Given the description of an element on the screen output the (x, y) to click on. 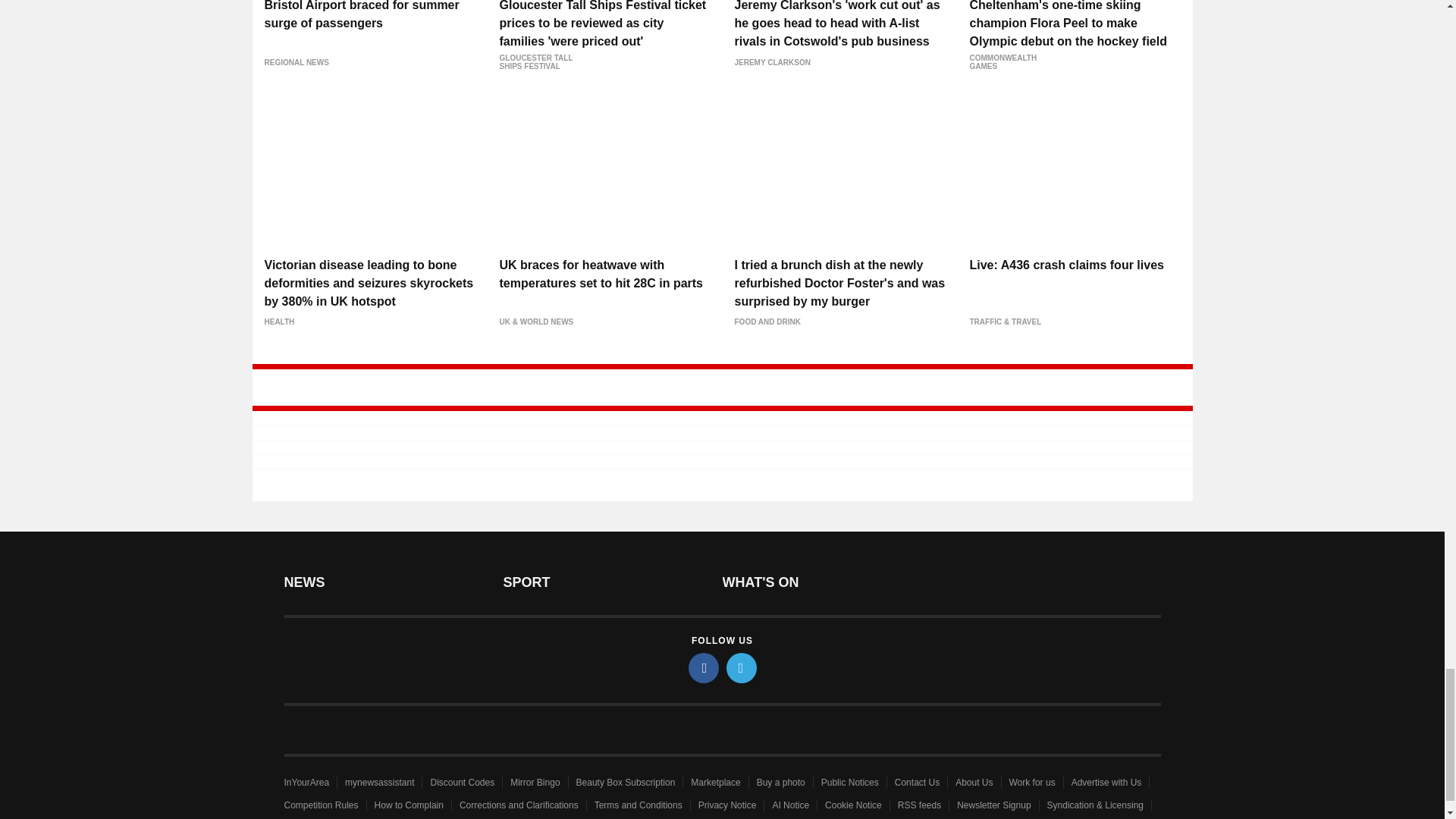
twitter (741, 667)
facebook (703, 667)
